Given the description of an element on the screen output the (x, y) to click on. 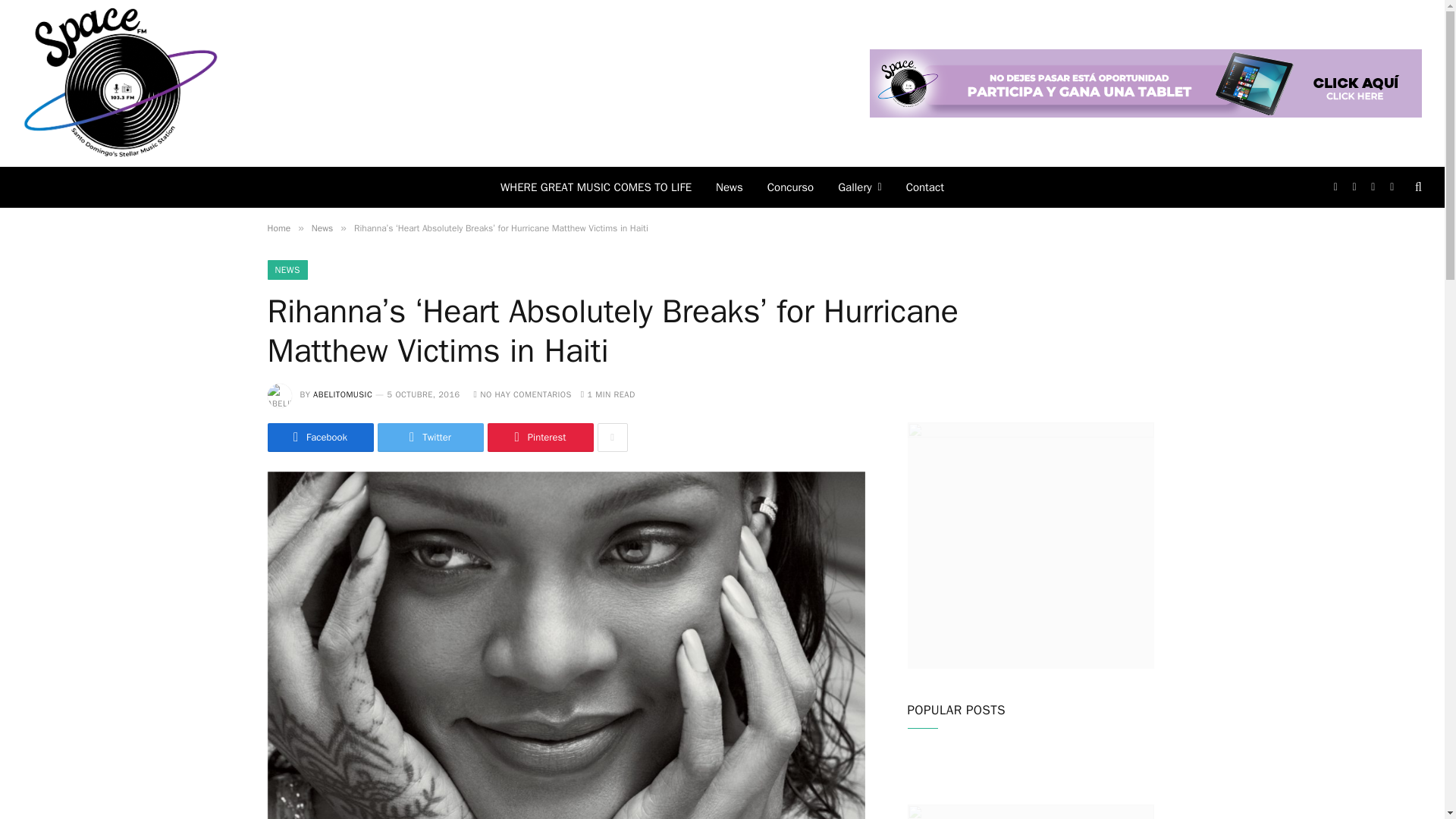
News (729, 187)
Share on Pinterest (539, 437)
NEWS (286, 270)
Entradas de AbelitoMusic (342, 394)
Space 103.3 FM (120, 83)
Contact (924, 187)
Home (277, 227)
News (322, 227)
Facebook (319, 437)
Share on Facebook (319, 437)
ABELITOMUSIC (342, 394)
Twitter (430, 437)
Pinterest (539, 437)
WHERE GREAT MUSIC COMES TO LIFE (595, 187)
Concurso (790, 187)
